Given the description of an element on the screen output the (x, y) to click on. 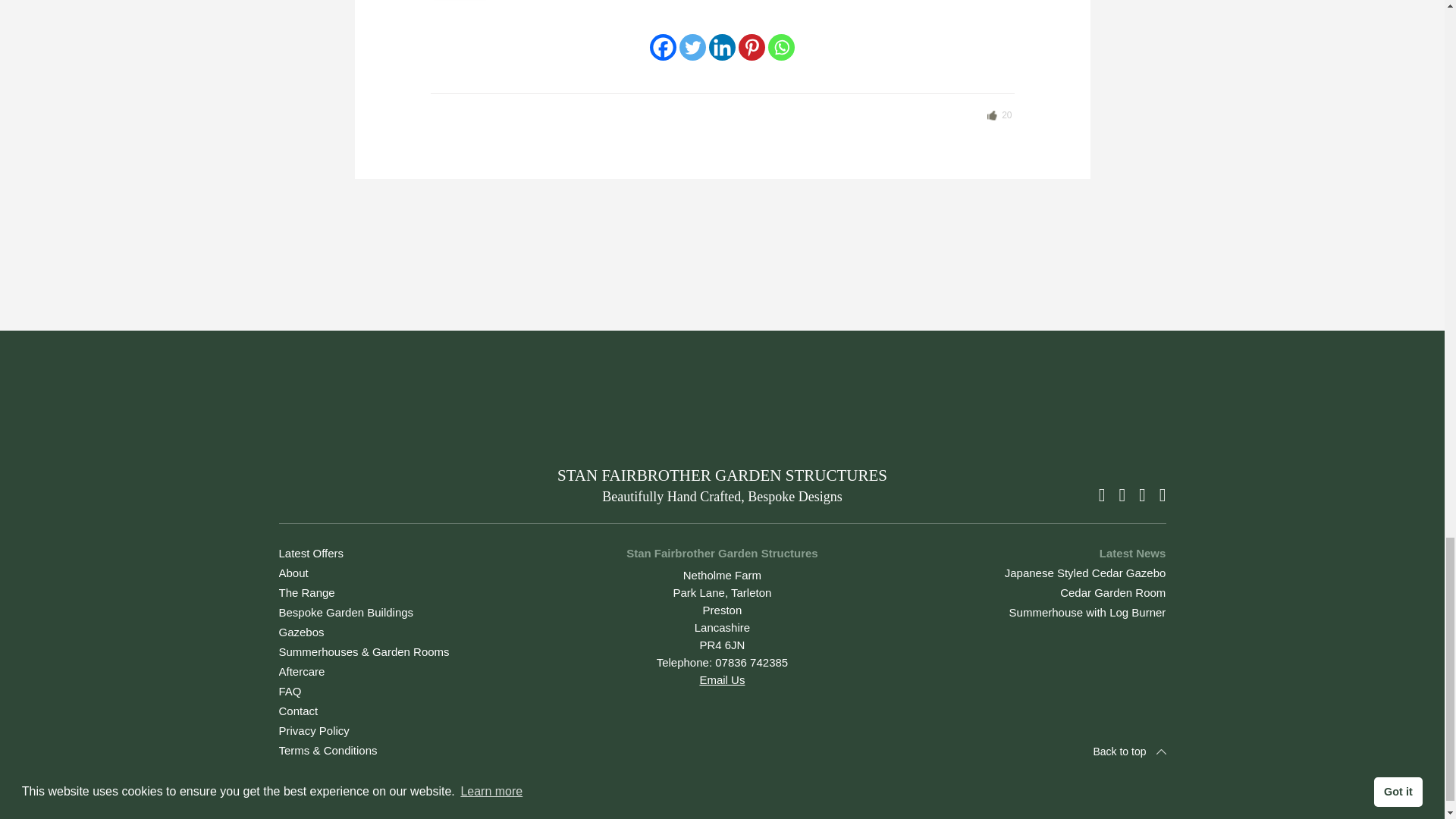
Linkedin (722, 47)
Pinterest (751, 47)
Japanese Styled Cedar Gazebo (1085, 572)
Facebook (663, 47)
Whatsapp (781, 47)
The Range (306, 592)
Gazebos (301, 631)
Contact (298, 710)
Bespoke Garden Buildings (346, 612)
Cedar Garden Room (1112, 592)
Aftercare (301, 671)
Latest Offers (311, 553)
Email Us (721, 679)
About (293, 572)
Twitter (692, 47)
